Given the description of an element on the screen output the (x, y) to click on. 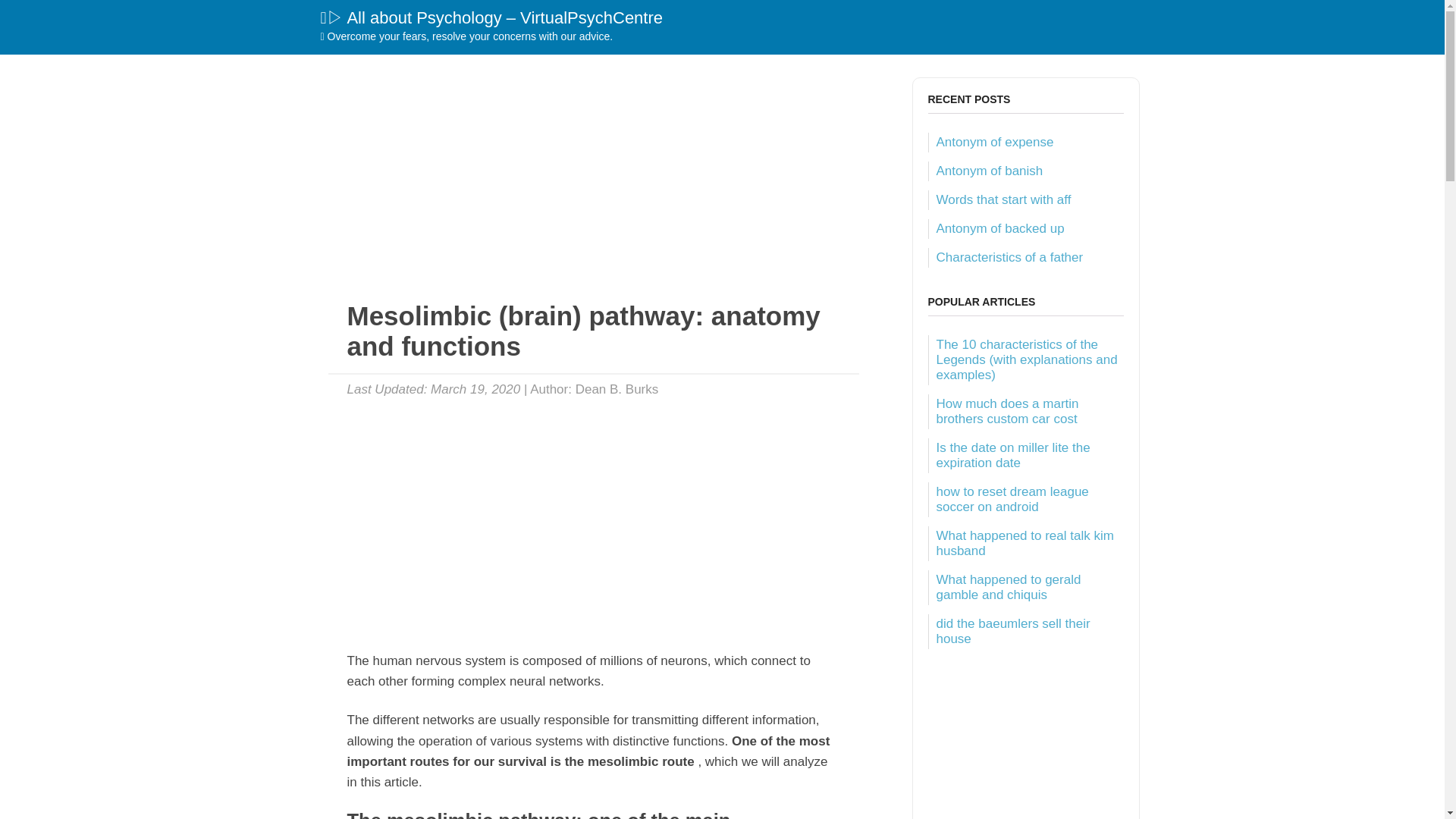
how to reset dream league soccer on android (1011, 499)
What happened to real talk kim husband (1024, 542)
Antonym of expense (994, 142)
How much does a martin brothers custom car cost (1007, 410)
did the baeumlers sell their house (1012, 631)
Is the date on miller lite the expiration date (1012, 455)
Words that start with aff (1003, 199)
Dean B. Burks (617, 389)
Advertisement (593, 516)
Advertisement (593, 182)
Characteristics of a father (1009, 257)
Antonym of backed up (1000, 228)
What happened to gerald gamble and chiquis (1008, 586)
Antonym of banish (989, 170)
